Given the description of an element on the screen output the (x, y) to click on. 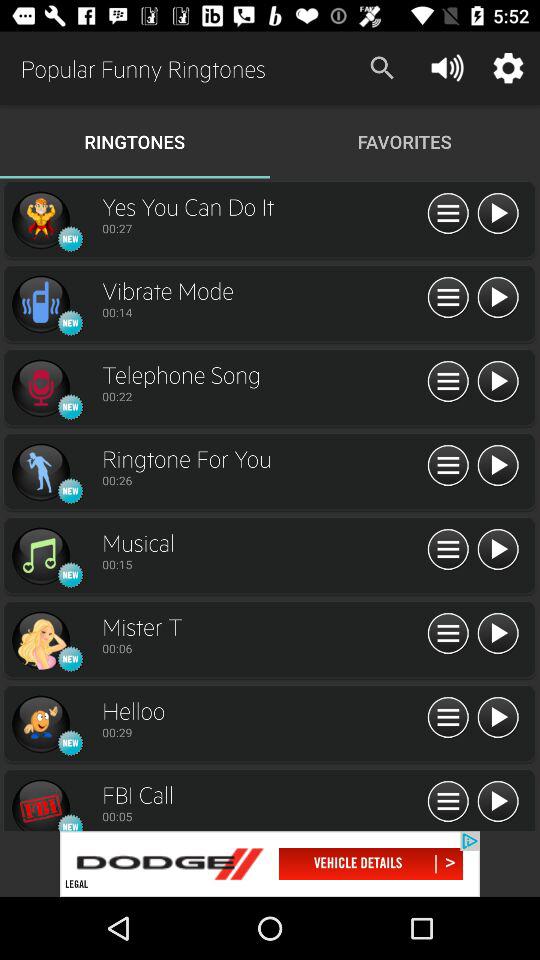
yes you can do it ringtone (40, 220)
